Given the description of an element on the screen output the (x, y) to click on. 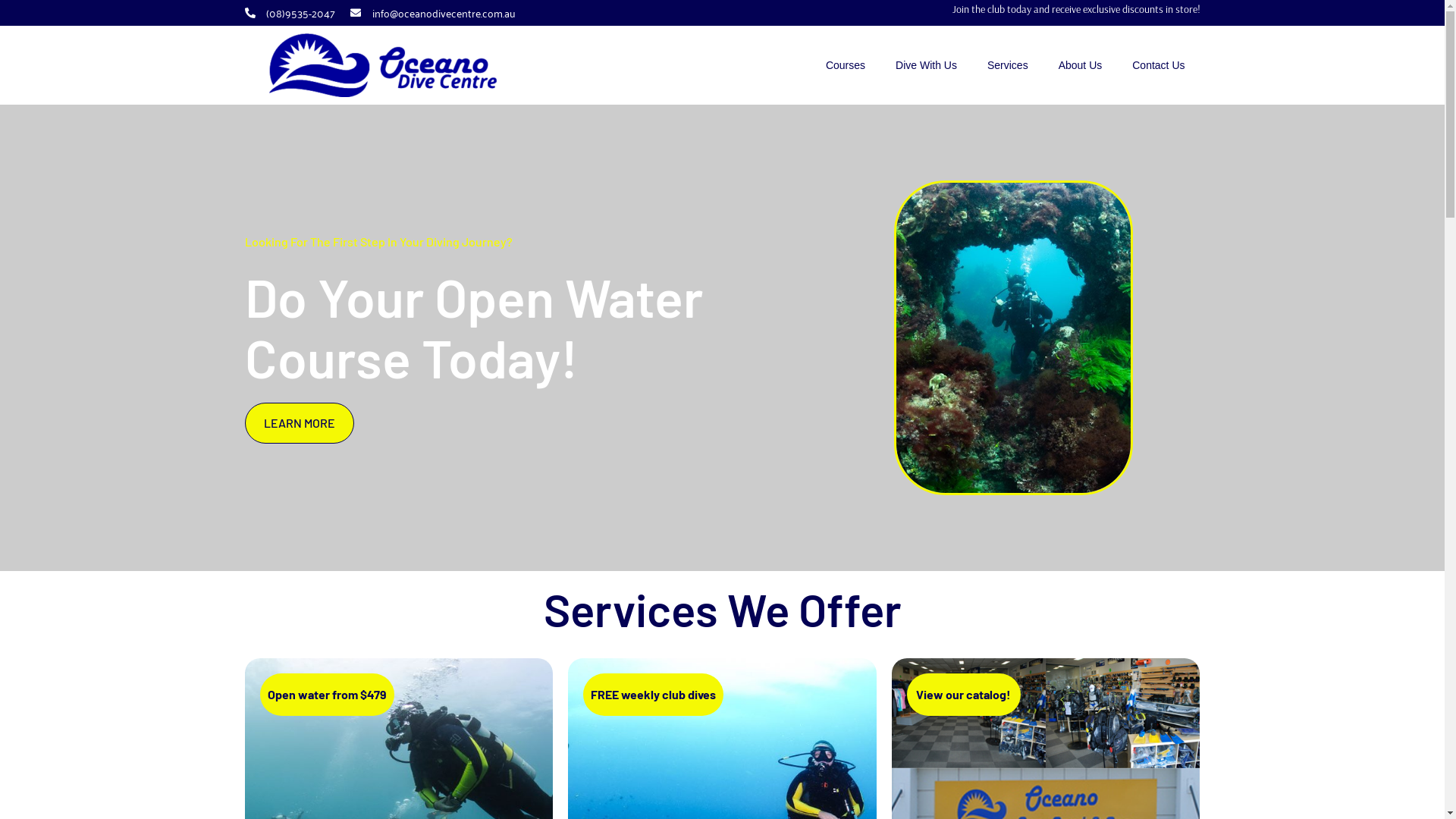
Open water from $479 Element type: text (326, 694)
About Us Element type: text (1080, 65)
Dive With Us Element type: text (926, 65)
Services Element type: text (1007, 65)
View our catalog! Element type: text (963, 694)
OpenWaterDivers Element type: hover (1013, 337)
Courses Element type: text (845, 65)
FREE weekly club dives Element type: text (653, 694)
LEARN MORE Element type: text (298, 422)
Contact Us Element type: text (1158, 65)
